Given the description of an element on the screen output the (x, y) to click on. 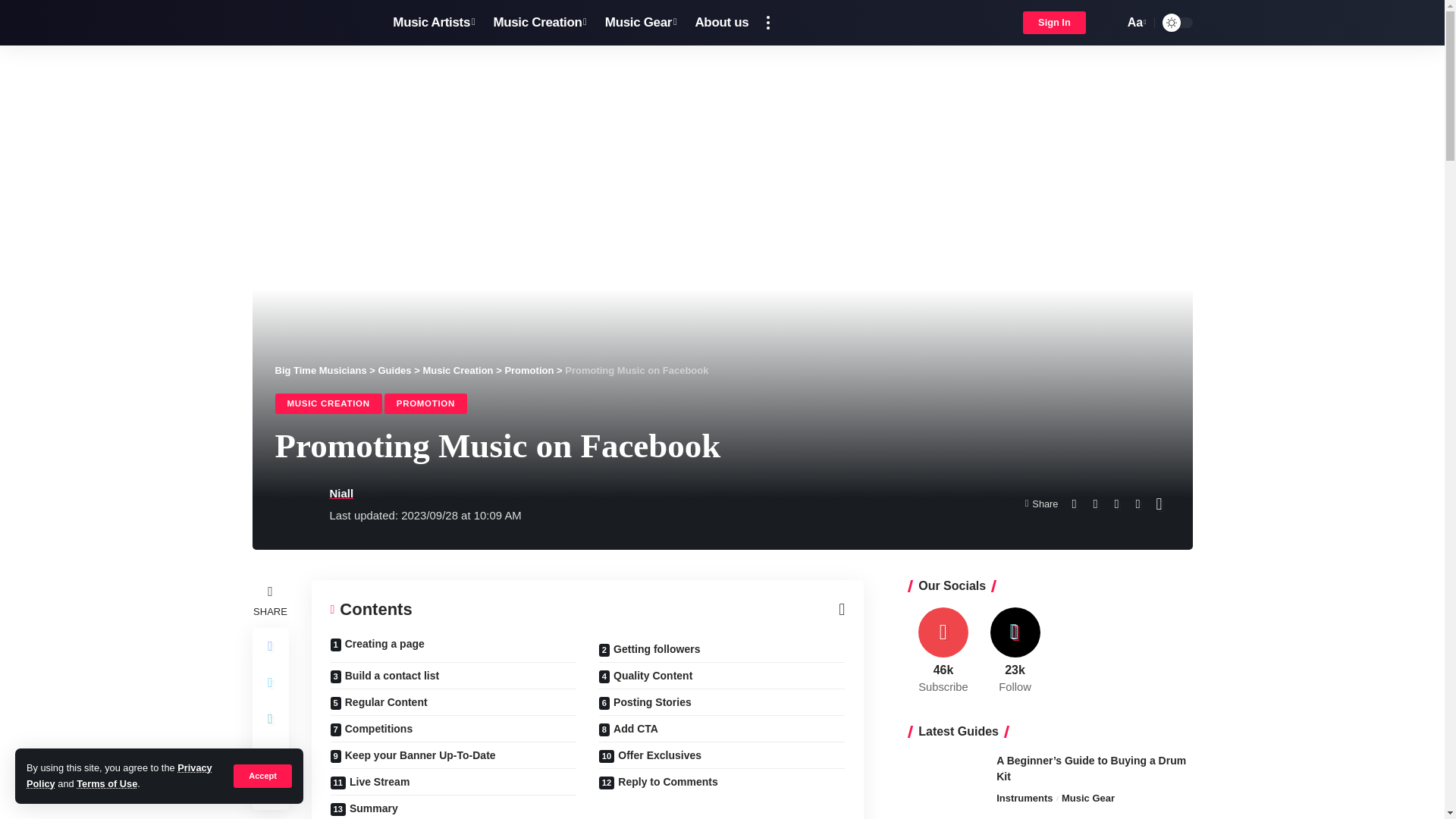
Privacy Policy (119, 775)
About us (721, 22)
Go to Big Time Musicians. (320, 369)
Go to the Promotion Category archives. (528, 369)
Music Creation (539, 22)
Go to the Music Creation Category archives. (457, 369)
Terms of Use (106, 783)
Music Gear (640, 22)
Go to Guides. (393, 369)
Accept (262, 775)
Aa (1135, 22)
Big Time Musicians (309, 22)
Sign In (1054, 22)
Music Artists (433, 22)
